Given the description of an element on the screen output the (x, y) to click on. 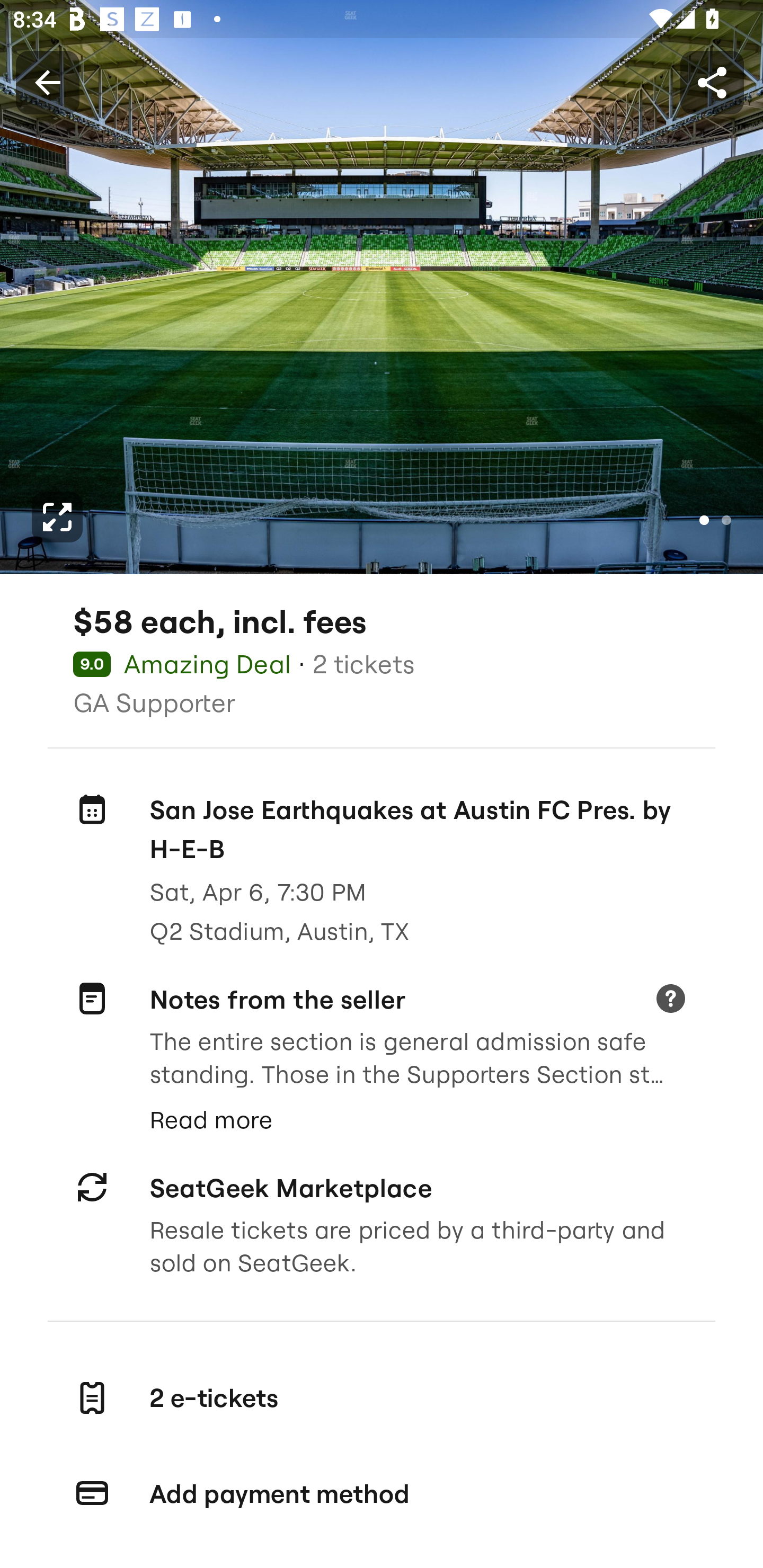
Back (47, 81)
Share (711, 81)
Expand image to fullscreen (57, 517)
Learn more (670, 1000)
2 e-tickets (381, 1397)
Add payment method (381, 1493)
